Given the description of an element on the screen output the (x, y) to click on. 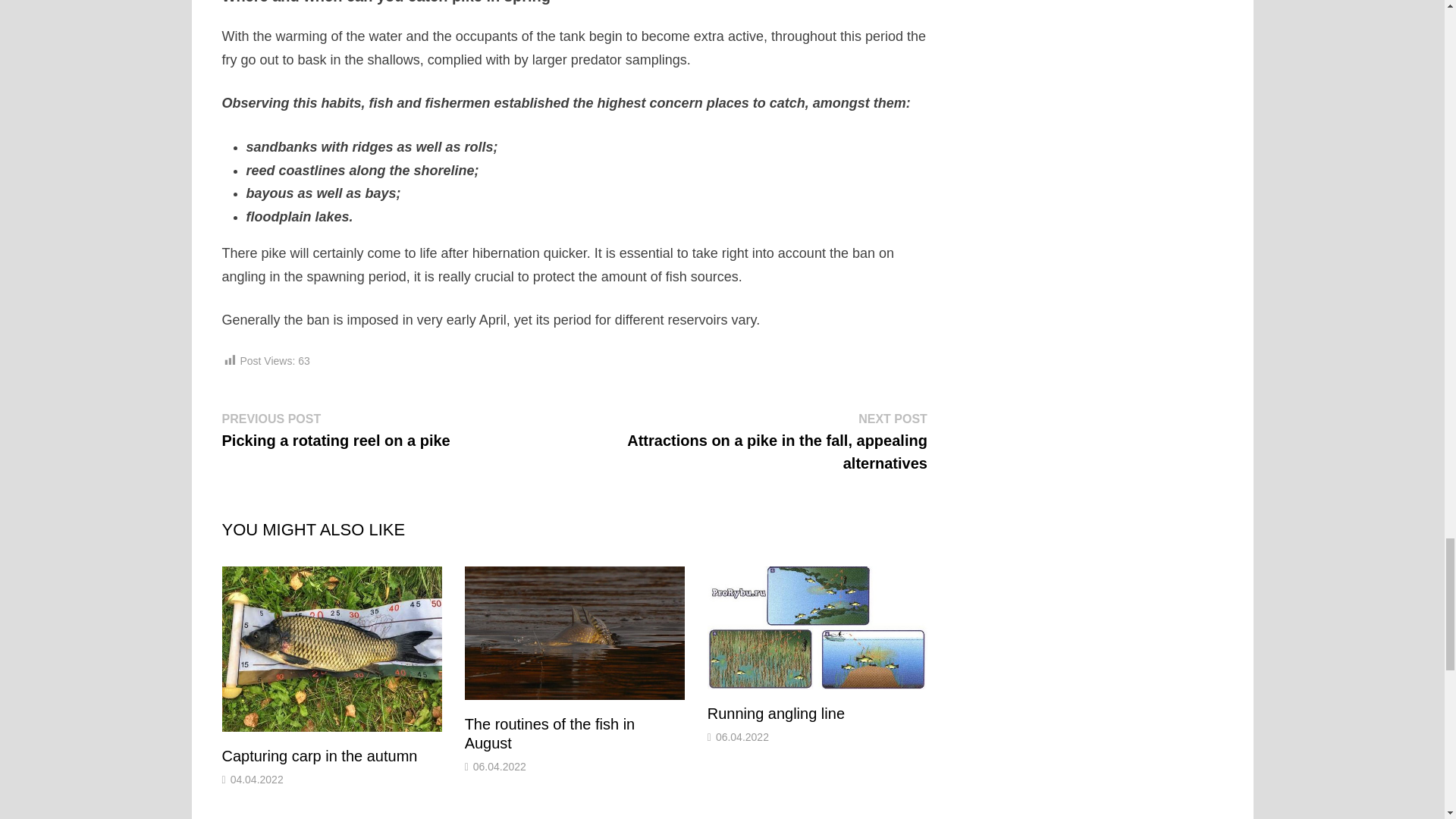
Capturing carp in the autumn (318, 755)
06.04.2022 (742, 736)
06.04.2022 (499, 766)
The routines of the fish in August (549, 733)
Capturing carp in the autumn (318, 755)
04.04.2022 (256, 779)
Running angling line (775, 713)
Running angling line (775, 713)
